Given the description of an element on the screen output the (x, y) to click on. 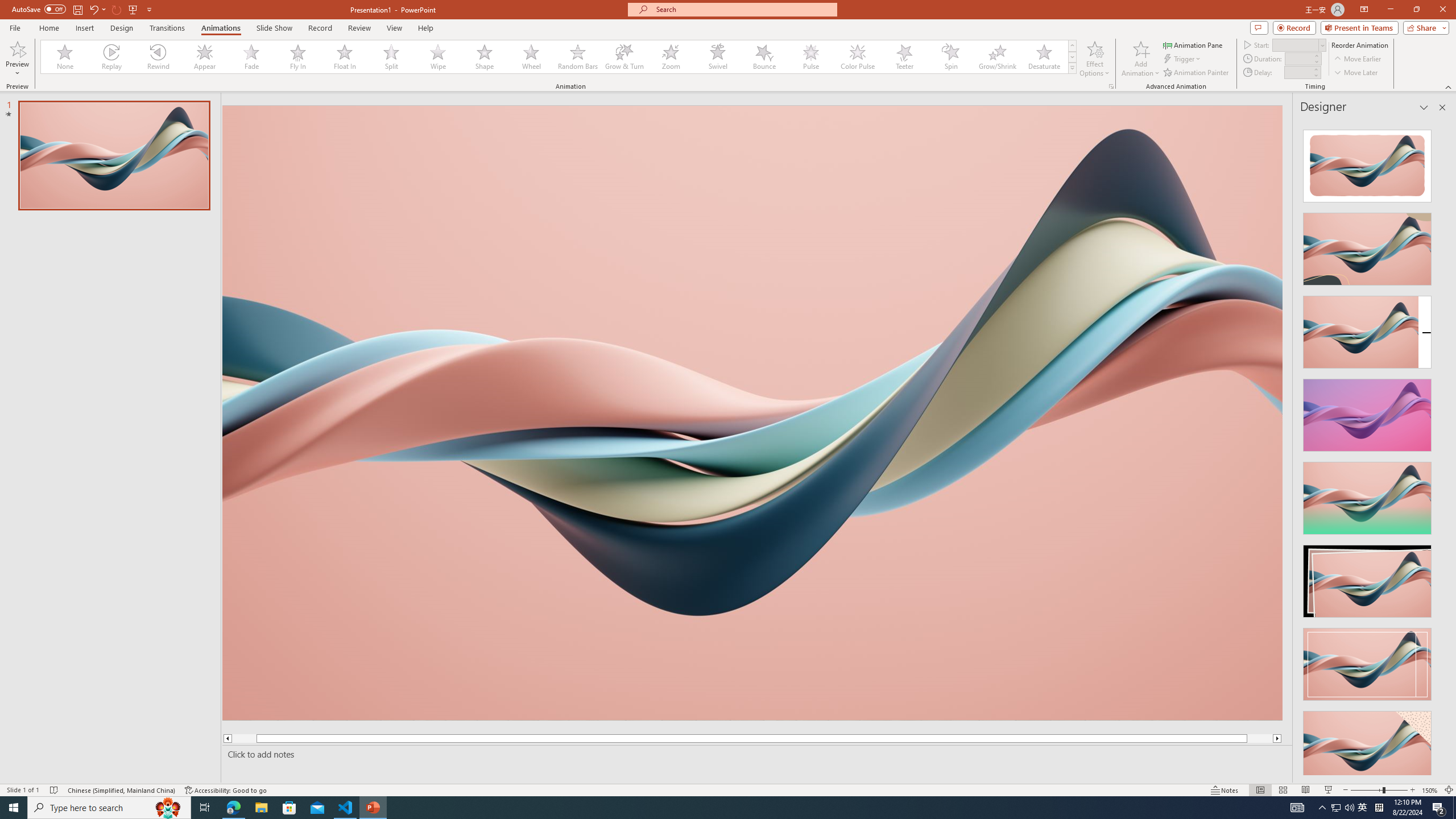
Animation Painter (1196, 72)
Split (391, 56)
Animation Delay (1297, 72)
Wipe (437, 56)
Desaturate (1043, 56)
Move Earlier (1357, 58)
Grow/Shrink (997, 56)
Recommended Design: Design Idea (1366, 162)
